Given the description of an element on the screen output the (x, y) to click on. 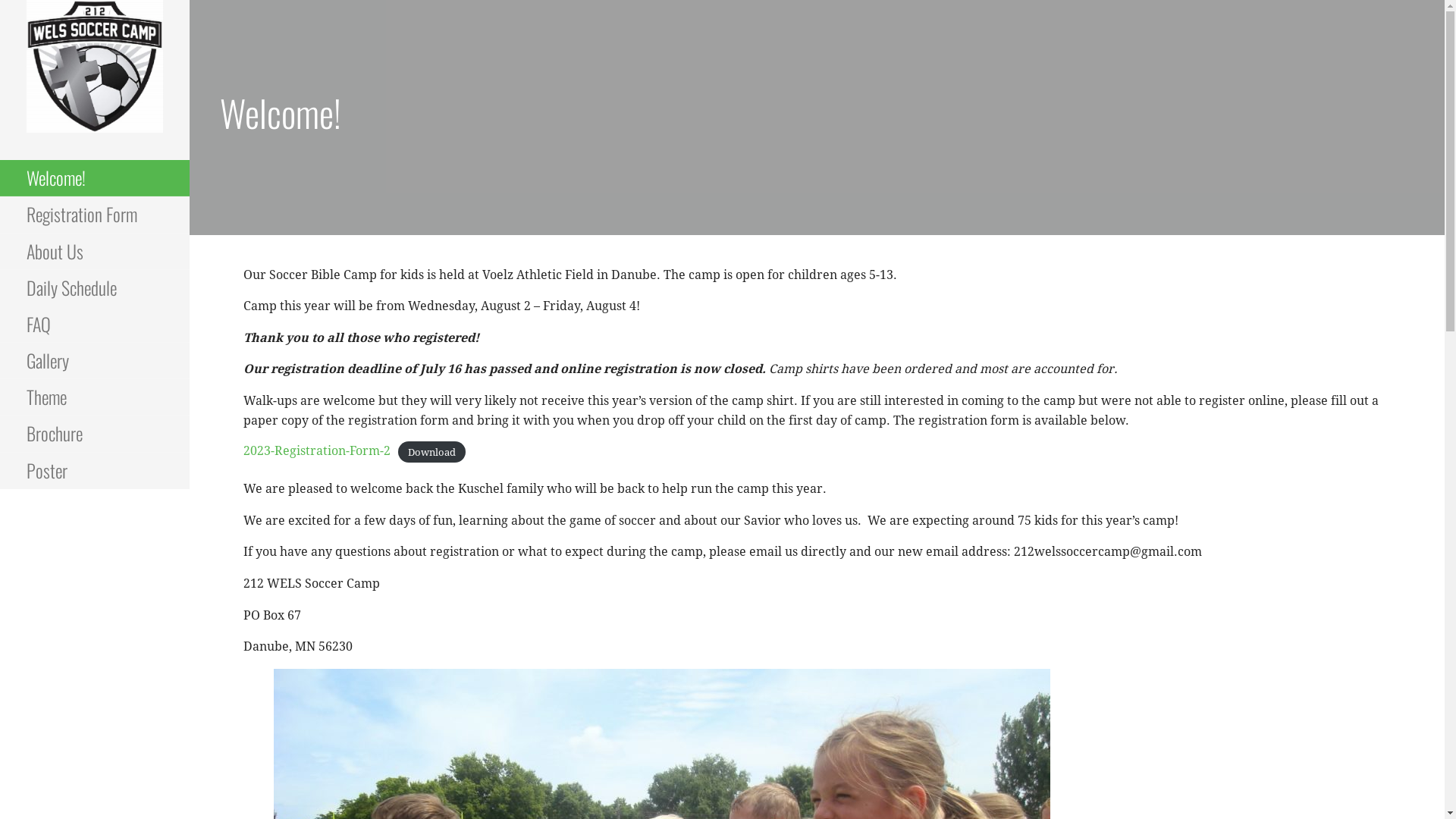
FAQ Element type: text (94, 324)
Skip to content Element type: text (189, 0)
Download Element type: text (431, 451)
212 WELS SOCCER CAMP Element type: text (107, 166)
Theme Element type: text (94, 397)
Welcome! Element type: text (94, 178)
Registration Form Element type: text (94, 214)
2023-Registration-Form-2 Element type: text (316, 450)
Brochure Element type: text (94, 433)
Poster Element type: text (94, 470)
About Us Element type: text (94, 251)
Daily Schedule Element type: text (94, 287)
Gallery Element type: text (94, 360)
